Given the description of an element on the screen output the (x, y) to click on. 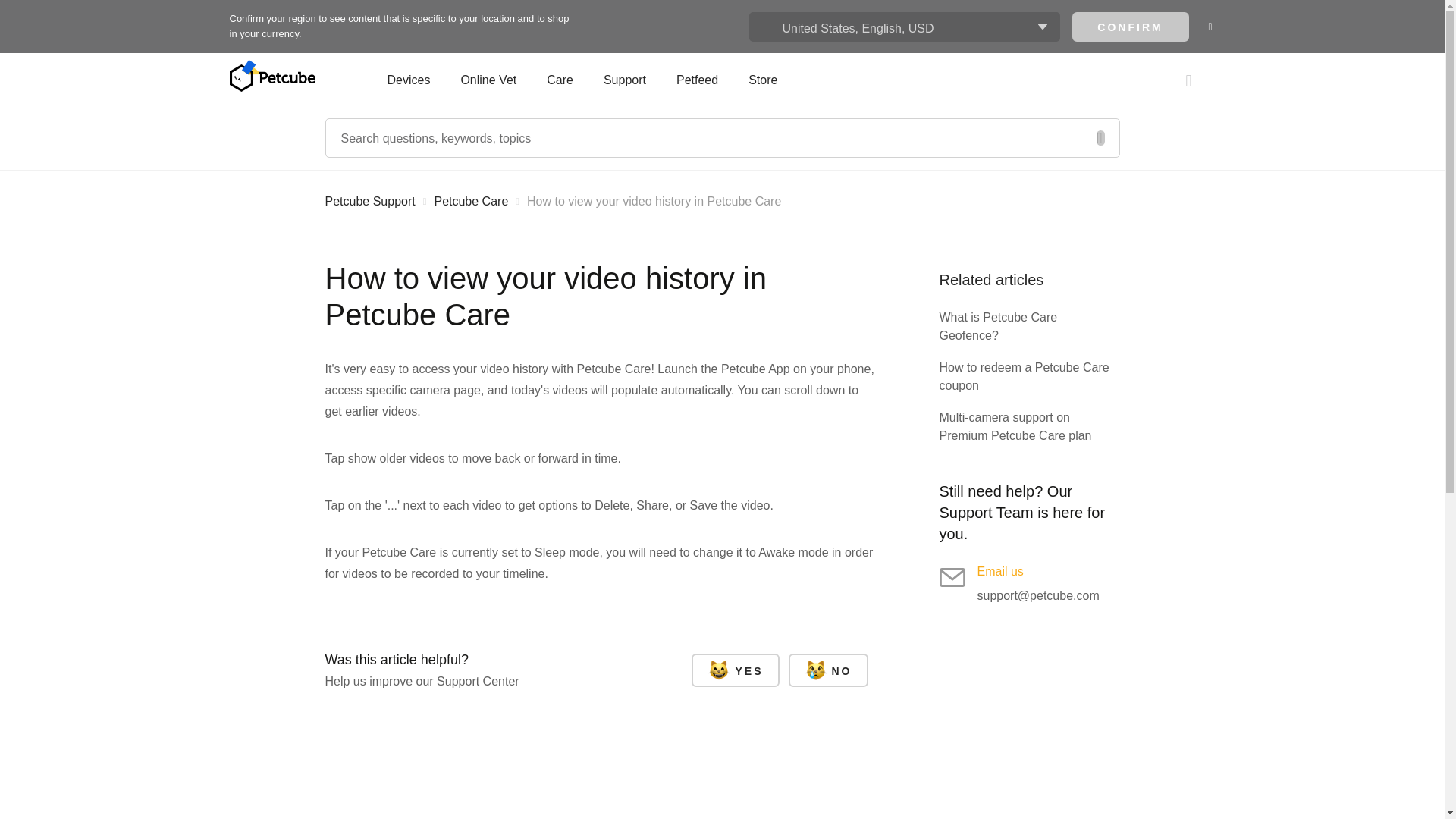
YES (734, 670)
Petcube Care (470, 201)
NO (828, 670)
Multi-camera support on Premium Petcube Care plan (1029, 426)
Store (762, 79)
What is Petcube Care Geofence? (1029, 326)
Online Vet (488, 79)
Support (624, 79)
Petfeed (697, 79)
Devices (416, 79)
